Given the description of an element on the screen output the (x, y) to click on. 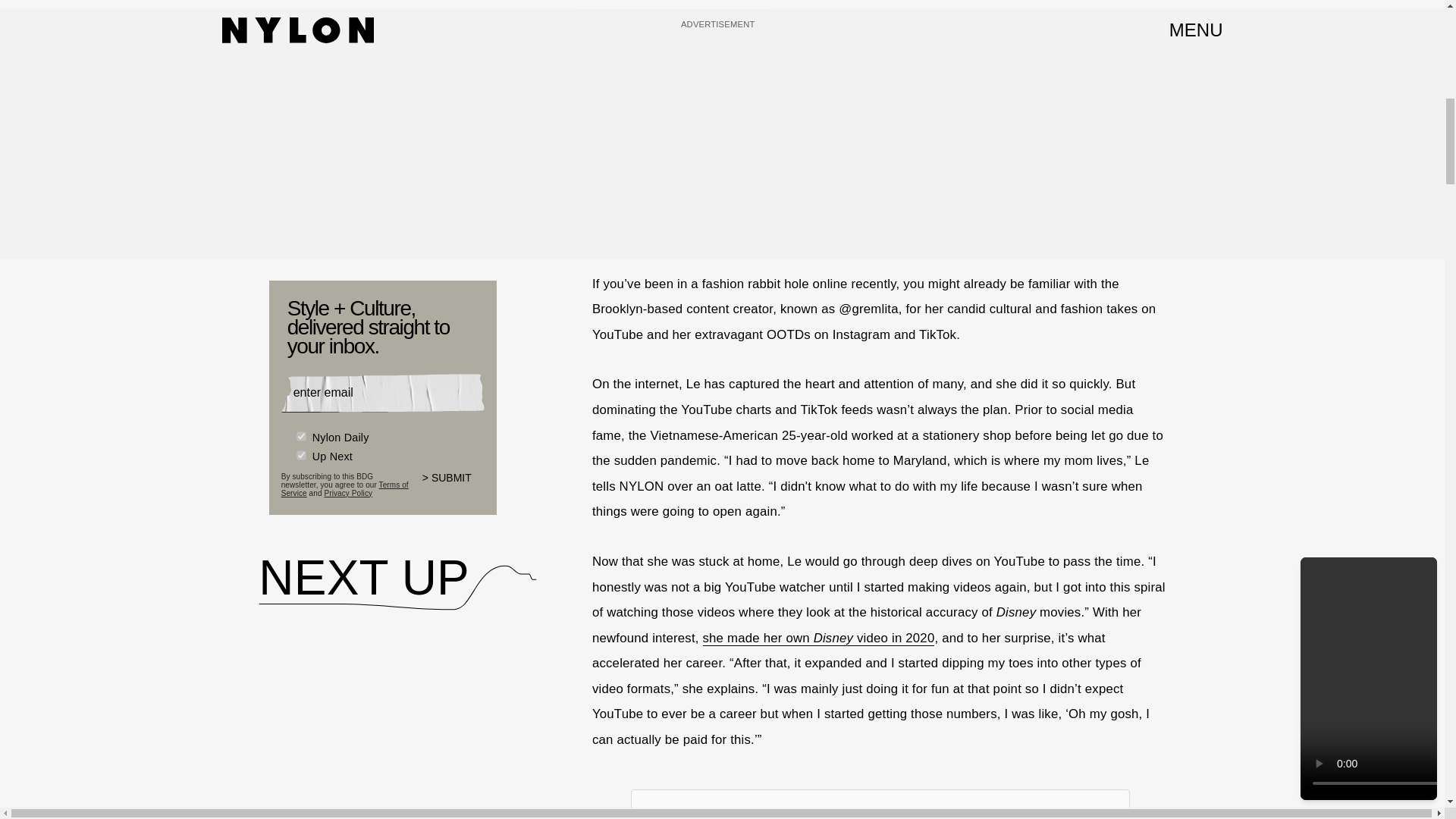
she made her own Disney video in 2020 (817, 638)
Privacy Policy (347, 492)
SUBMIT (453, 486)
Terms of Service (345, 488)
